Given the description of an element on the screen output the (x, y) to click on. 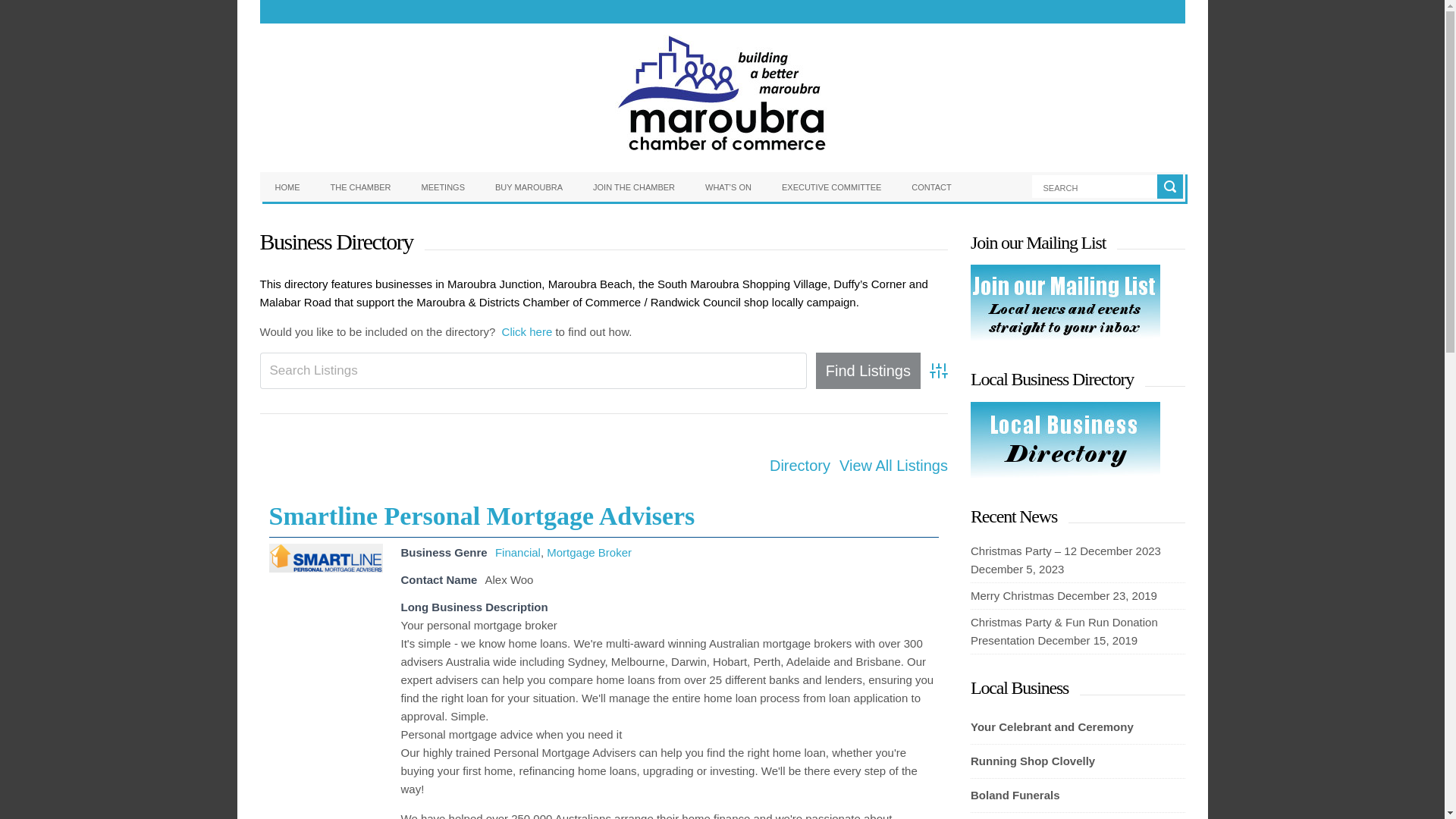
View All Listings (893, 465)
Randwick Council (695, 301)
MEETINGS (443, 186)
GO (1169, 186)
CONTACT (931, 186)
Click here (527, 331)
Mortgage Broker (589, 552)
BUY MAROUBRA (529, 186)
Join our Mailing List (1065, 336)
Running Shop Clovelly (1078, 761)
